Given the description of an element on the screen output the (x, y) to click on. 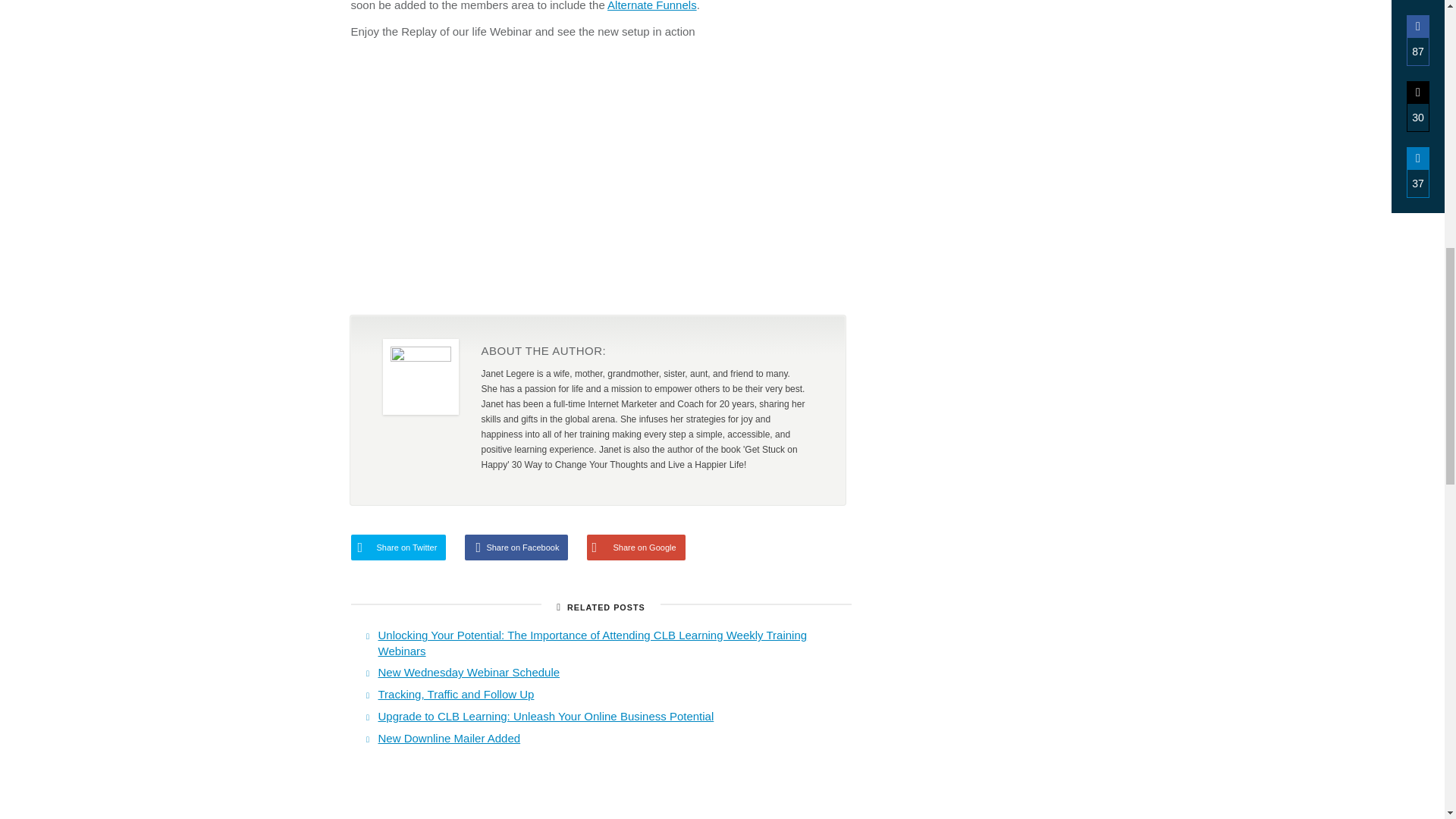
New Wednesday Webinar Schedule (468, 671)
Share on Facebook (515, 547)
New Downline Mailer Added (448, 738)
Tracking, Traffic and Follow Up (455, 694)
Tracking, Traffic and Follow Up (455, 694)
Alternate Funnels (652, 5)
New Wednesday Webinar Schedule (468, 671)
